Given the description of an element on the screen output the (x, y) to click on. 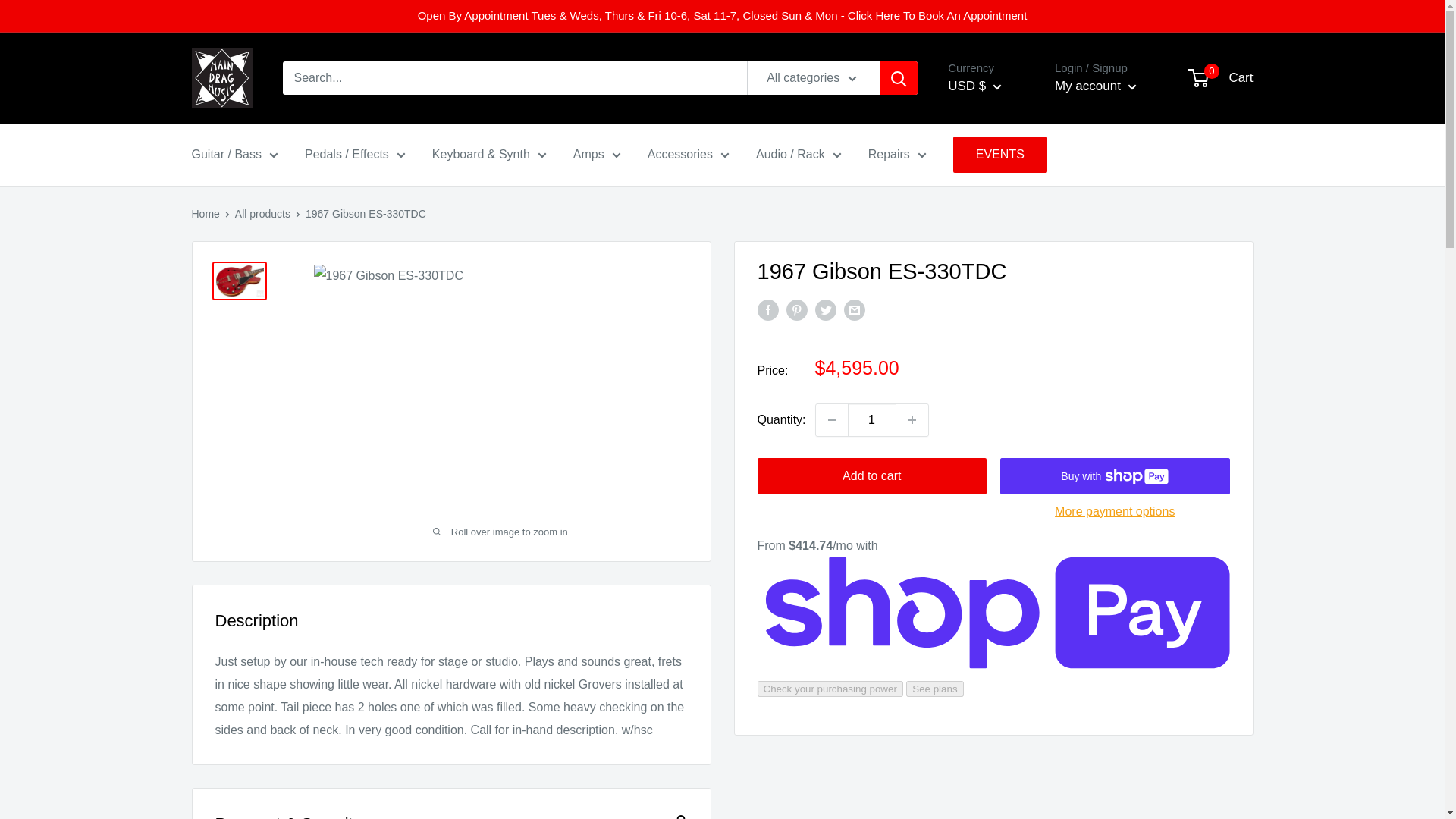
Increase quantity by 1 (912, 418)
Decrease quantity by 1 (831, 418)
1 (871, 418)
